Given the description of an element on the screen output the (x, y) to click on. 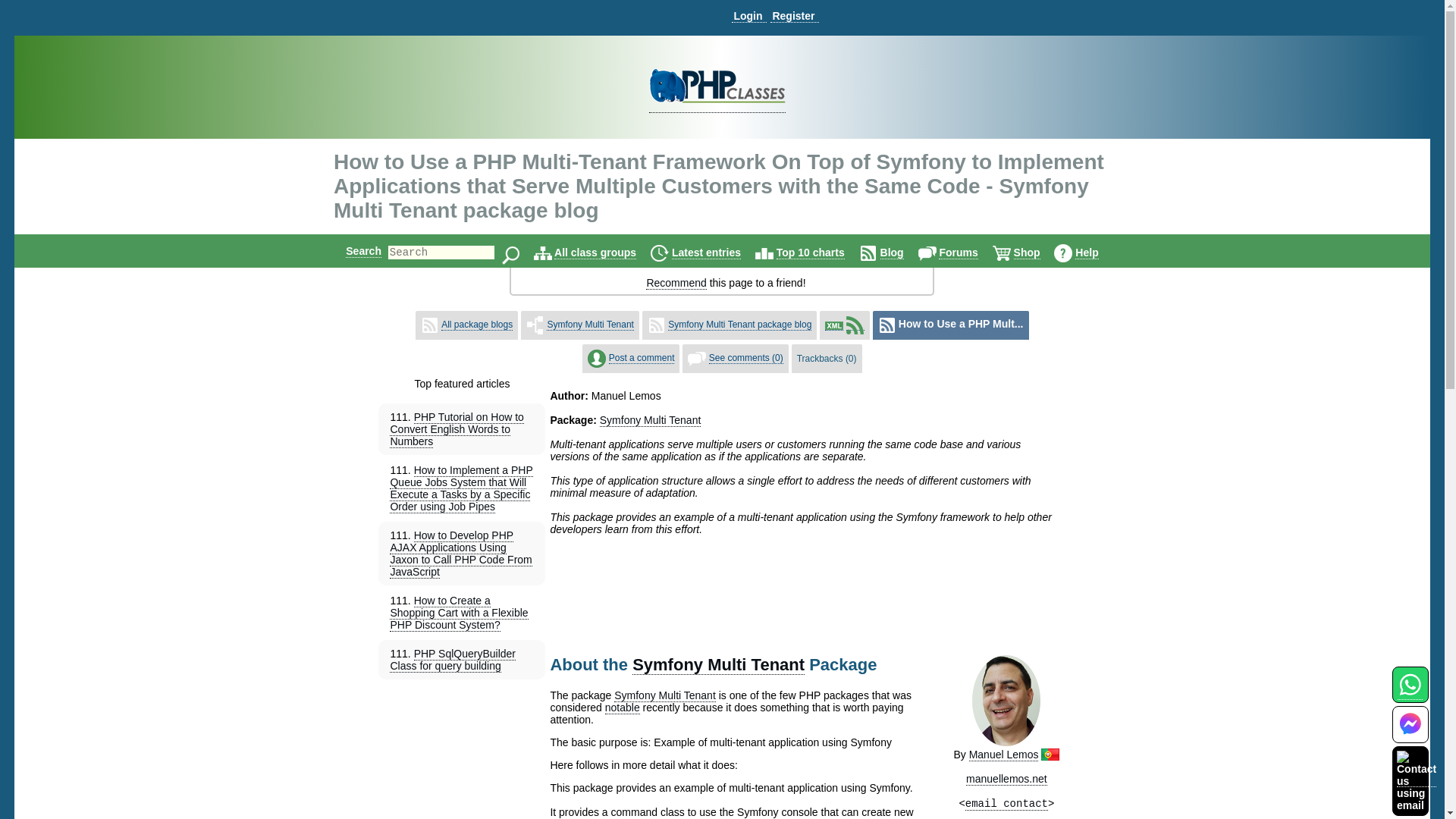
manuellemos.net (1006, 779)
Contact us using email (1415, 780)
Help (1086, 252)
Symfony Multi Tenant (665, 694)
Contact us using WhatsApp (1409, 693)
email contact (1006, 803)
Shop (1027, 252)
Symfony Multi Tenant (590, 324)
Search (363, 250)
PHP Tutorial on How to Convert English Words to Numbers (456, 429)
Forums (957, 252)
Symfony Multi Tenant (718, 664)
All class groups (595, 252)
